Given the description of an element on the screen output the (x, y) to click on. 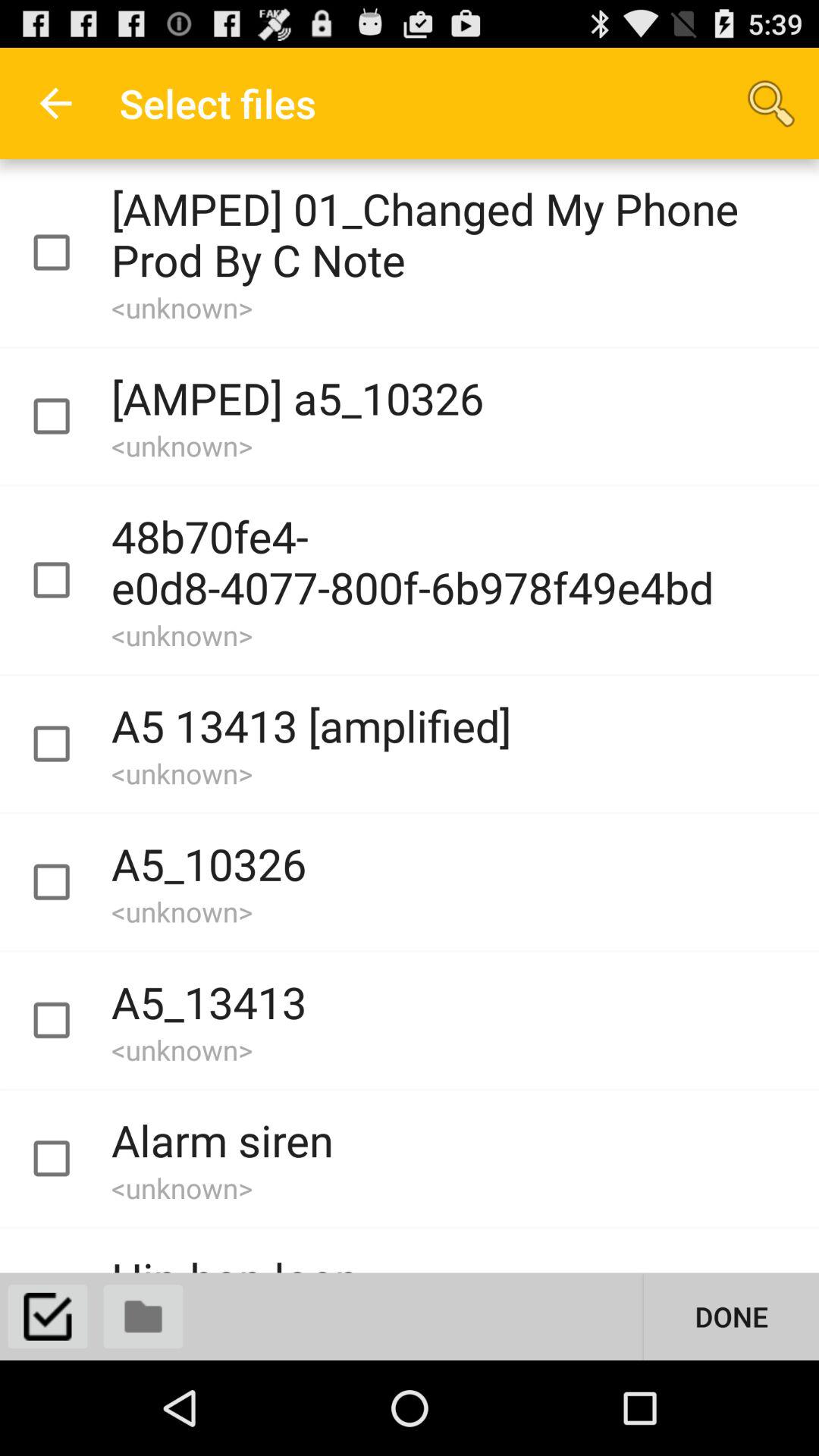
go to alarm box (65, 1158)
